Given the description of an element on the screen output the (x, y) to click on. 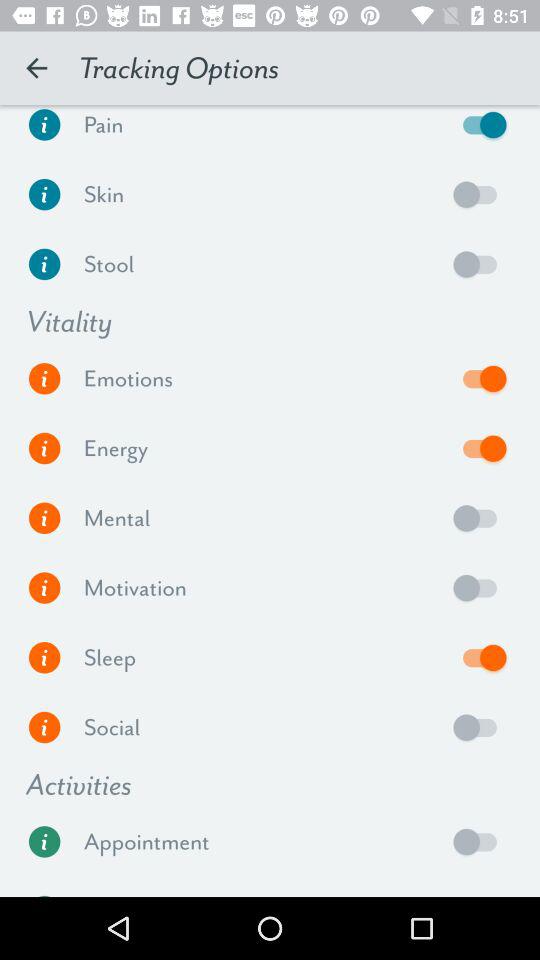
toggle sleep mode (479, 657)
